Given the description of an element on the screen output the (x, y) to click on. 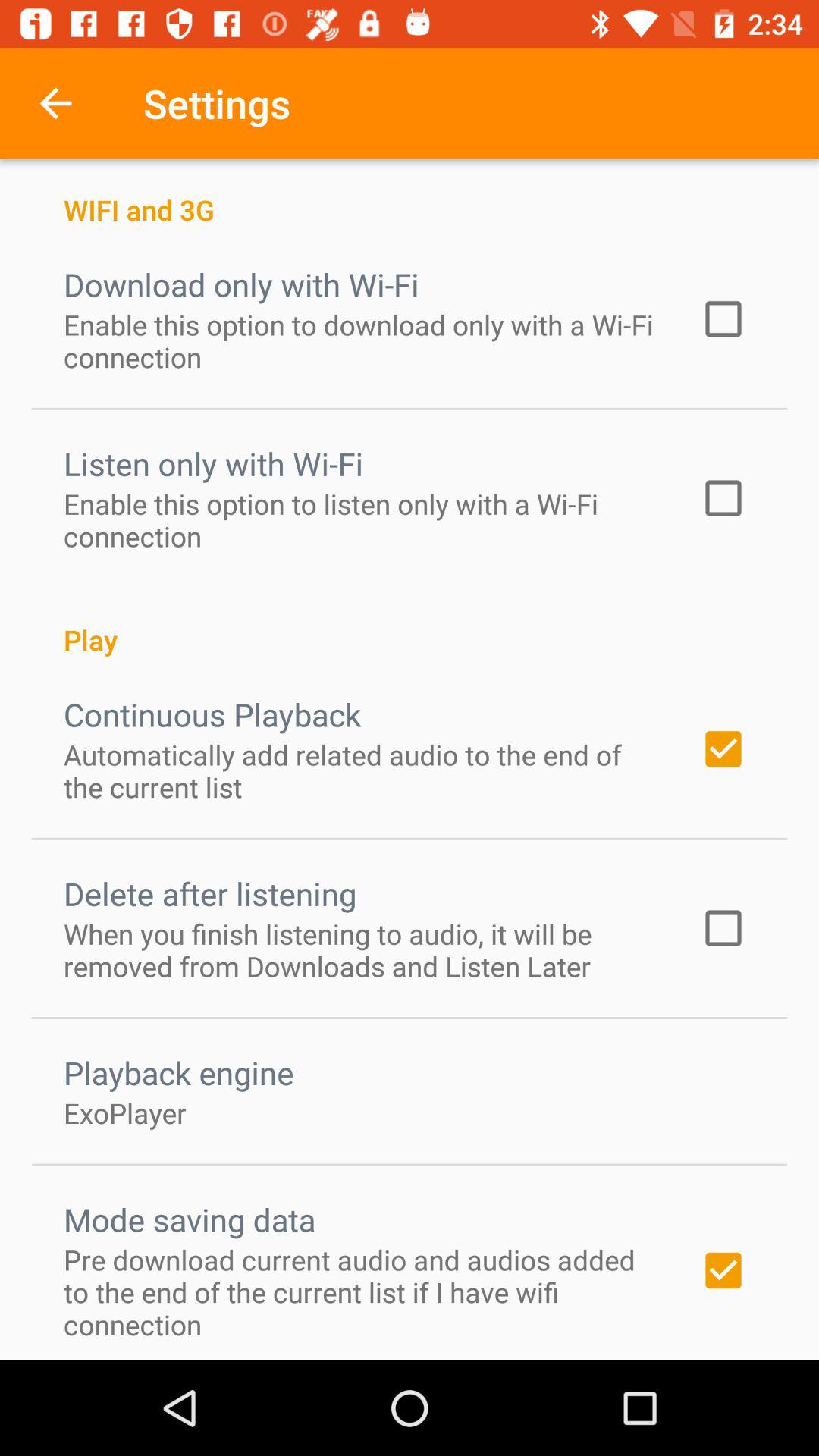
press the exoplayer item (124, 1112)
